Given the description of an element on the screen output the (x, y) to click on. 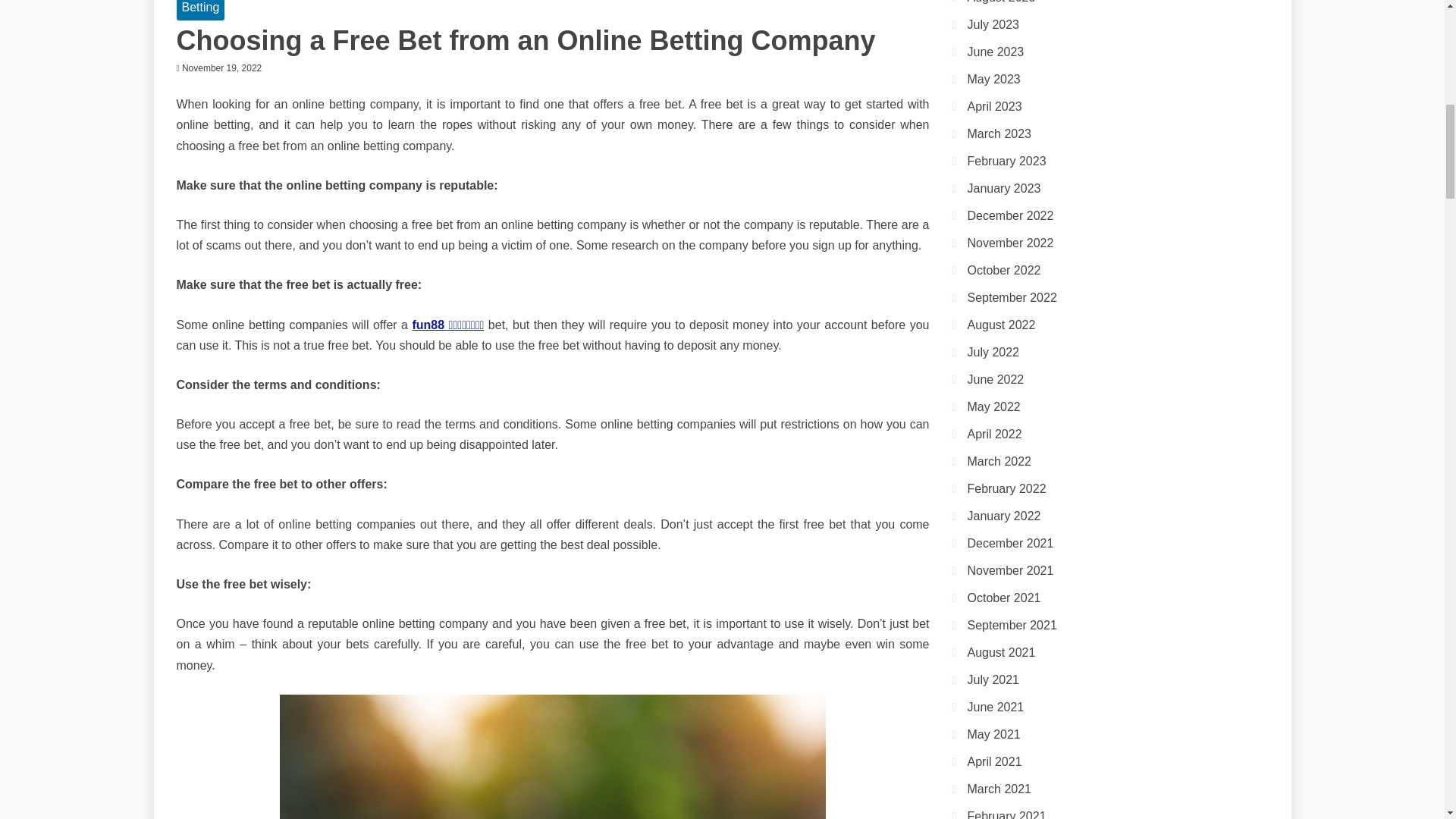
Choosing a Free Bet from an Online Betting Company (525, 40)
Betting (200, 9)
November 19, 2022 (222, 68)
